Given the description of an element on the screen output the (x, y) to click on. 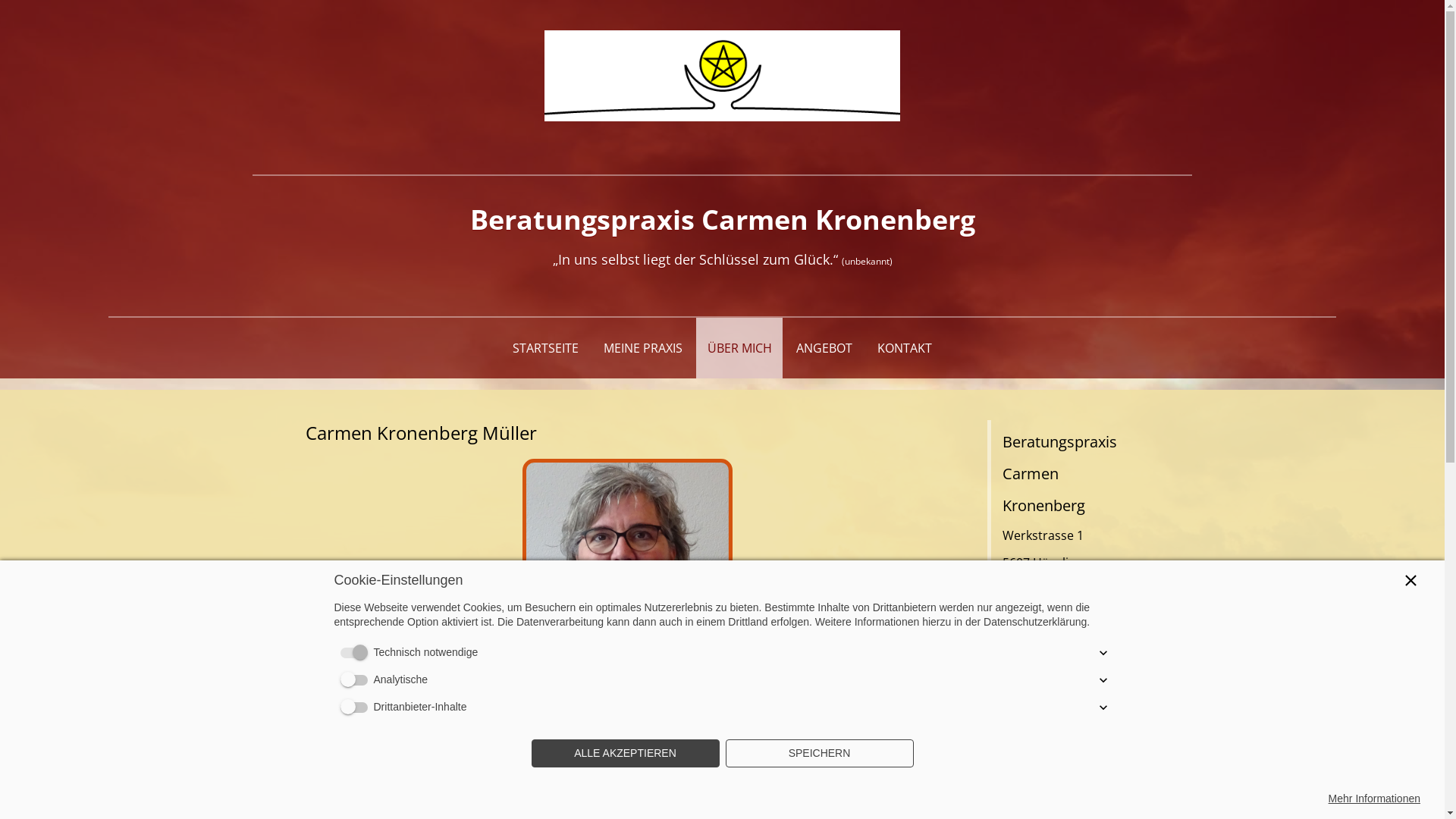
Mehr Informationen Element type: text (1374, 798)
MEINE PRAXIS Element type: text (642, 347)
KONTAKT Element type: text (904, 347)
ANGEBOT Element type: text (824, 347)
  Element type: text (722, 75)
SPEICHERN Element type: text (818, 753)
ALLE AKZEPTIEREN Element type: text (624, 753)
STARTSEITE Element type: text (545, 347)
